Given the description of an element on the screen output the (x, y) to click on. 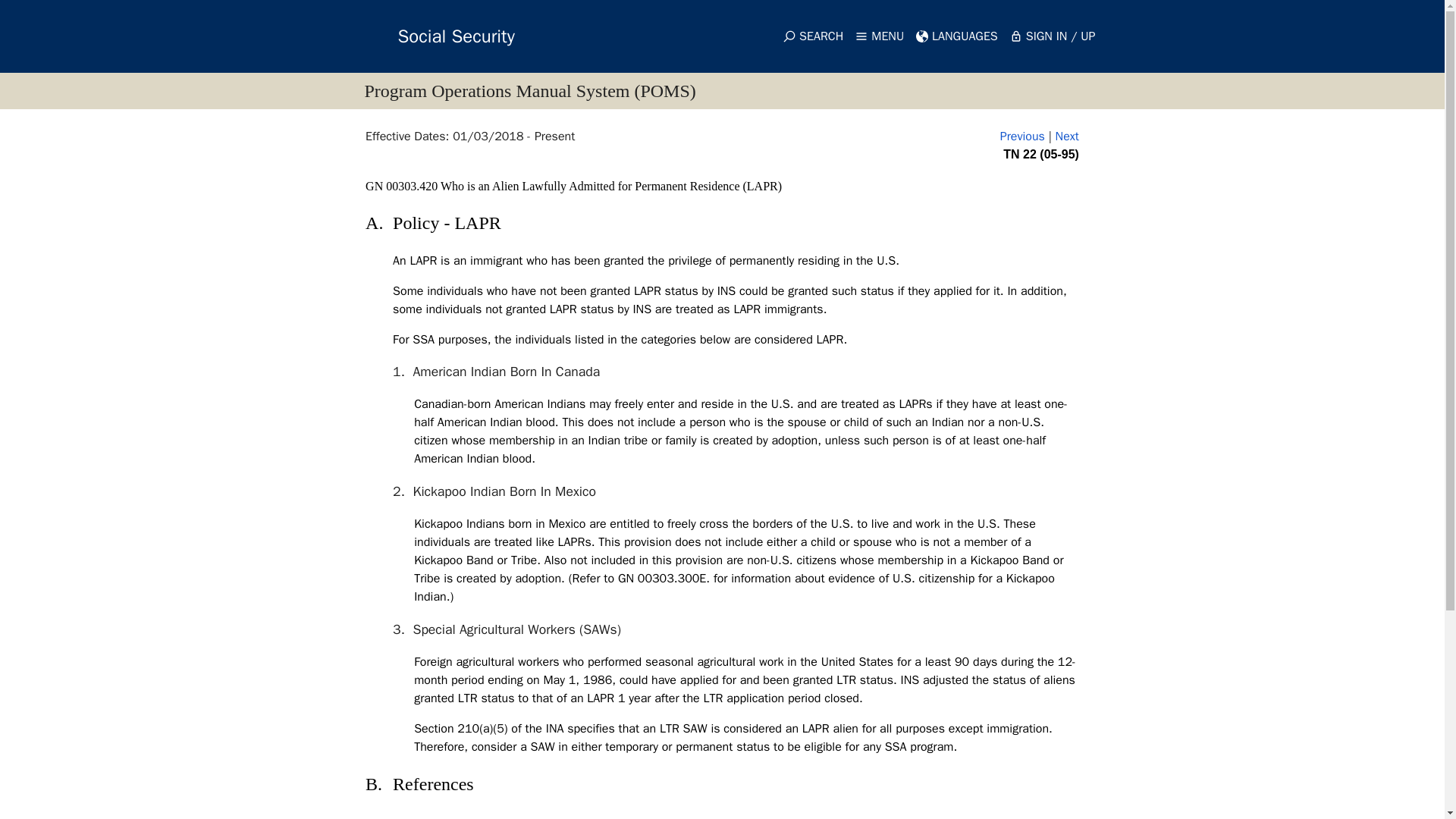
LANGUAGES (957, 36)
SEARCH (812, 36)
Previous (1022, 136)
Social Security (427, 36)
Next Document (1066, 136)
Next (1066, 136)
Languages (957, 36)
GN 00303.420 (403, 185)
Previous Document (1022, 136)
